Given the description of an element on the screen output the (x, y) to click on. 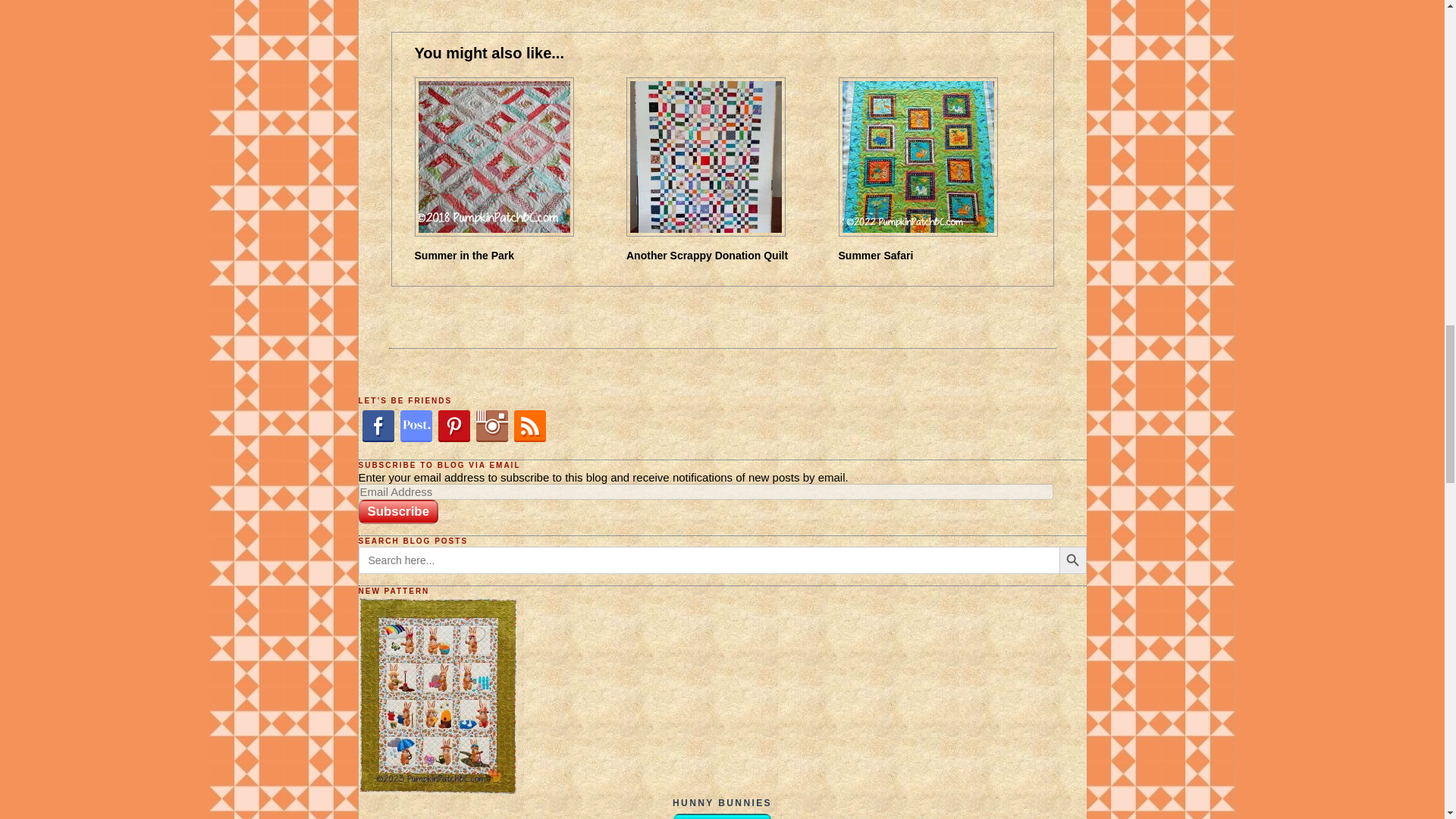
Summer in the Park (512, 156)
Another Scrappy Donation Quilt (725, 156)
Summer in the Park (463, 255)
Summer Safari (936, 156)
Summer Safari (876, 255)
Summer Safari (876, 255)
Summer in the Park (463, 255)
Another Scrappy Donation Quilt (706, 255)
Another Scrappy Donation Quilt (706, 255)
